Given the description of an element on the screen output the (x, y) to click on. 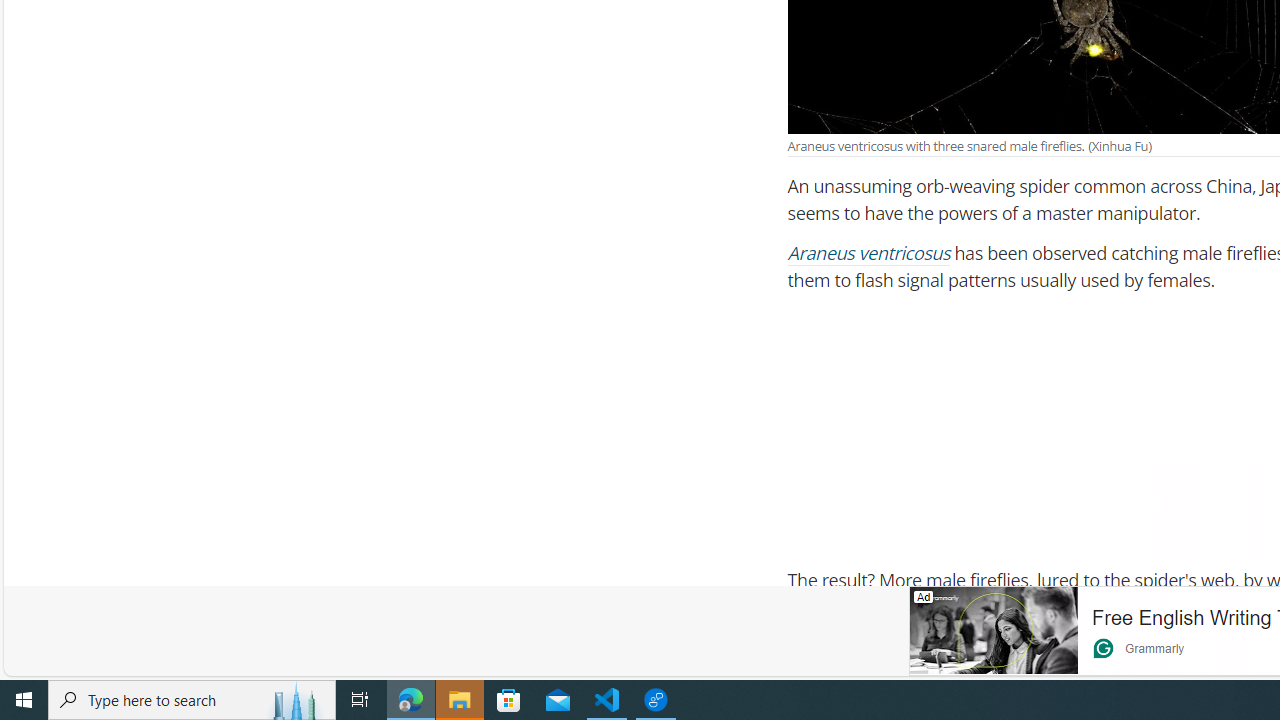
Araneus ventricosus (869, 254)
Abscondita terminalis (1008, 673)
